Given the description of an element on the screen output the (x, y) to click on. 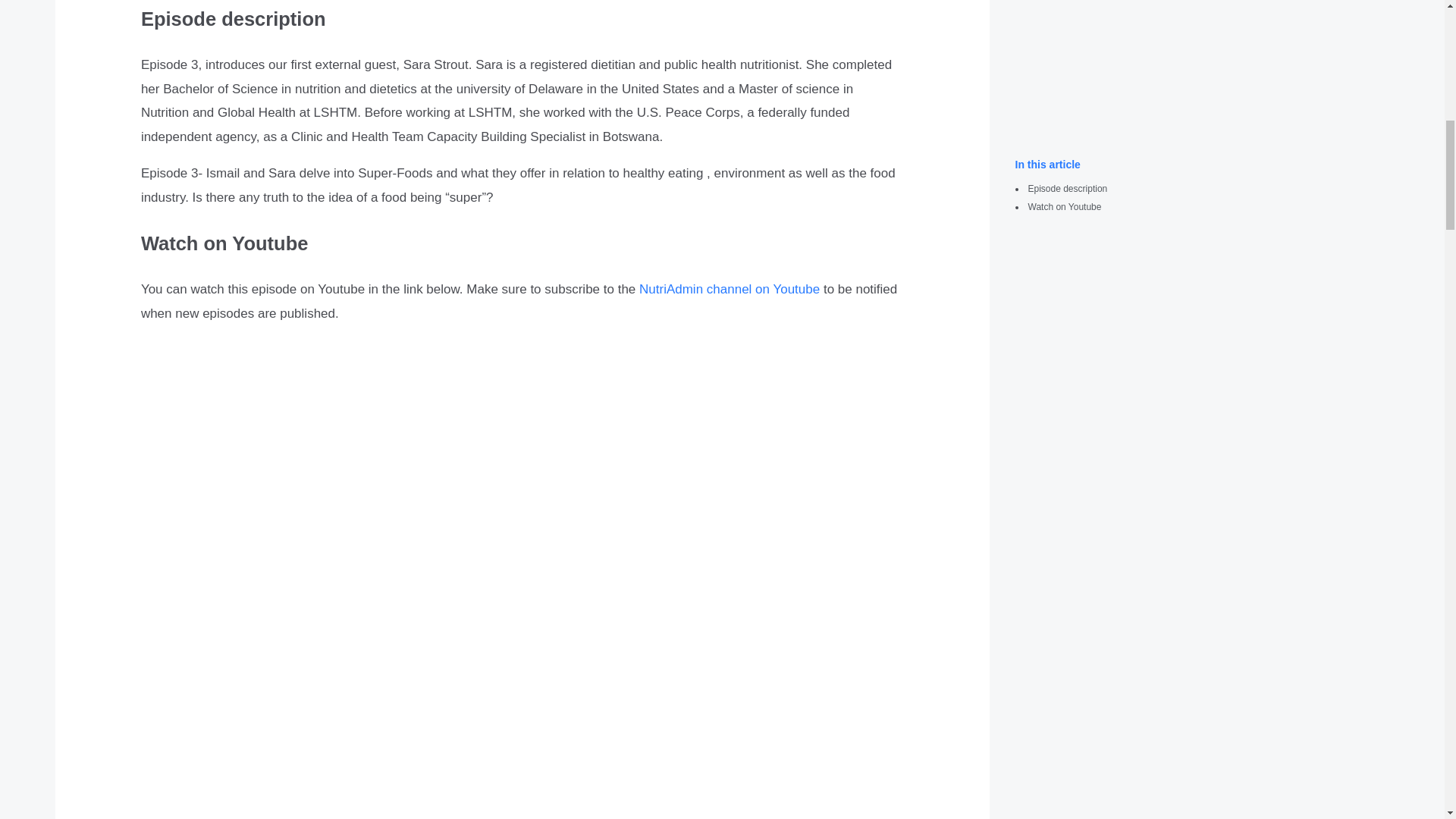
NutriAdmin channel on Youtube (729, 288)
